Given the description of an element on the screen output the (x, y) to click on. 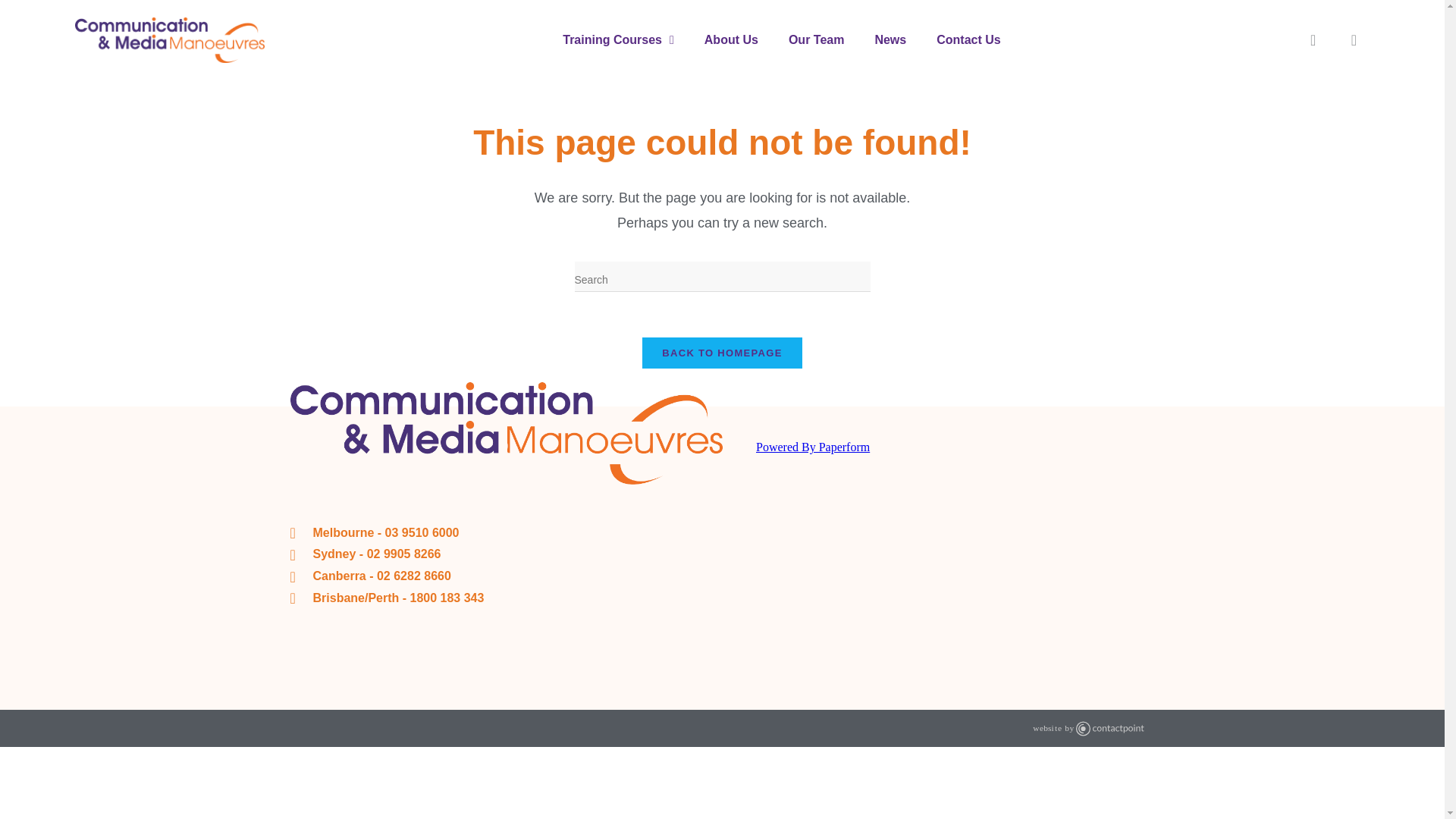
About Us (730, 39)
Sydney - 02 9905 8266 (505, 554)
News (890, 39)
Canberra - 02 6282 8660 (505, 576)
BACK TO HOMEPAGE (722, 352)
Embedded form (949, 554)
Contact Us (967, 39)
Melbourne - 03 9510 6000 (505, 533)
Our Team (816, 39)
Training Courses (617, 39)
